Given the description of an element on the screen output the (x, y) to click on. 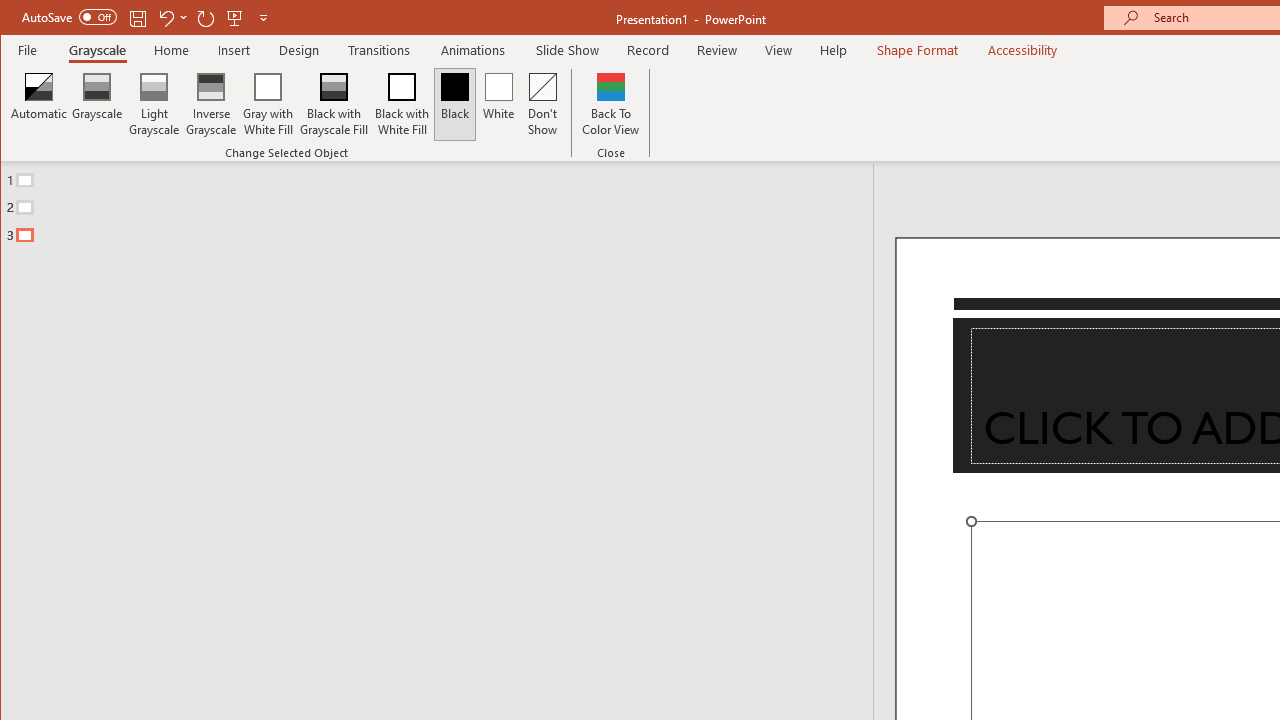
Undo (165, 17)
Save (138, 17)
View (779, 50)
Undo (171, 17)
Design (299, 50)
Gray with White Fill (267, 104)
Shape Format (916, 50)
Transitions (379, 50)
Slide Show (567, 50)
Record (648, 50)
Accessibility (1023, 50)
Review (717, 50)
Help (833, 50)
